Given the description of an element on the screen output the (x, y) to click on. 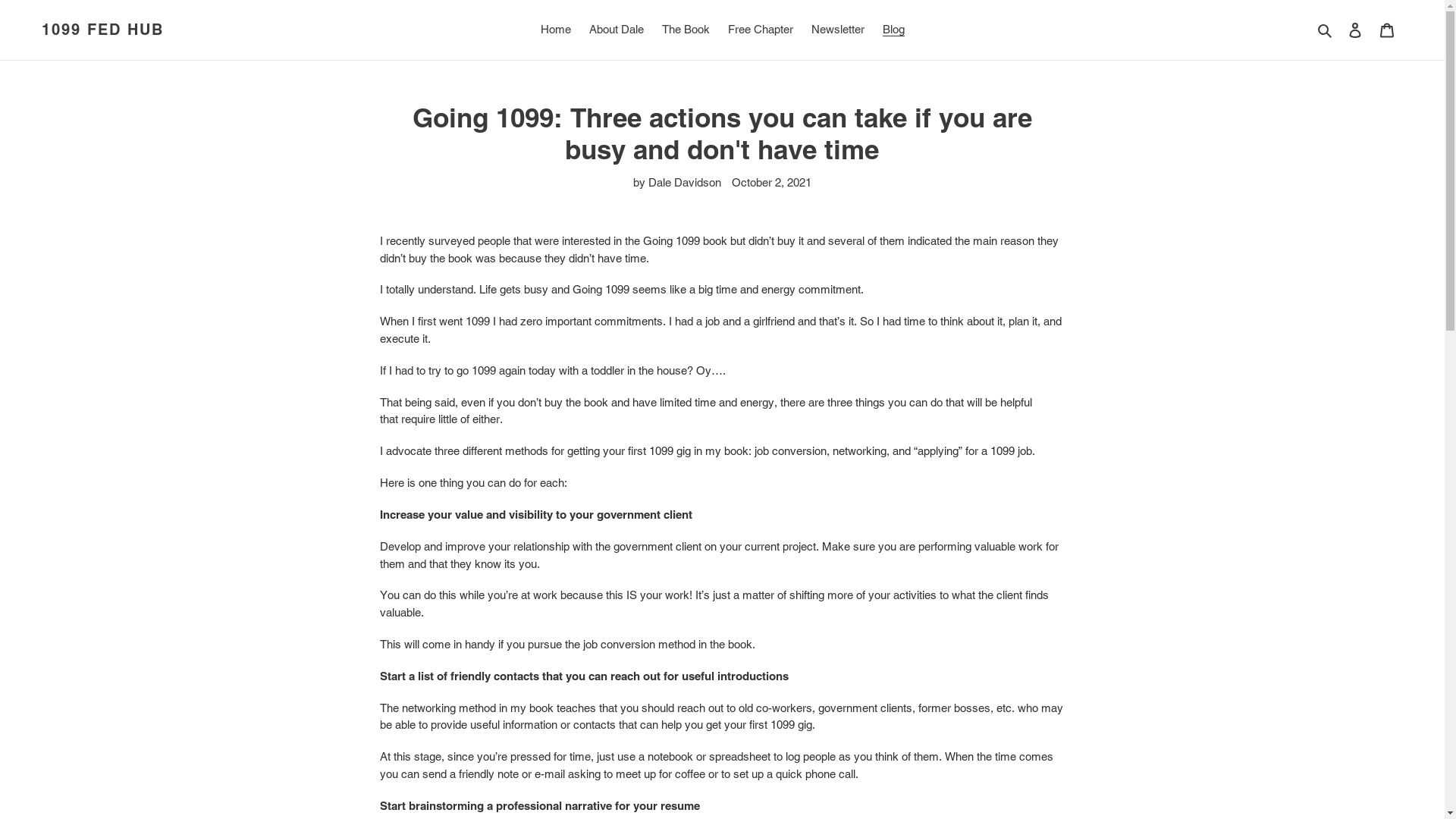
Free Chapter Element type: text (760, 29)
Newsletter Element type: text (837, 29)
Blog Element type: text (893, 29)
The Book Element type: text (684, 29)
Log in Element type: text (1355, 29)
Search Element type: text (1325, 29)
About Dale Element type: text (615, 29)
1099 FED HUB Element type: text (102, 29)
Cart Element type: text (1386, 29)
Home Element type: text (554, 29)
